Given the description of an element on the screen output the (x, y) to click on. 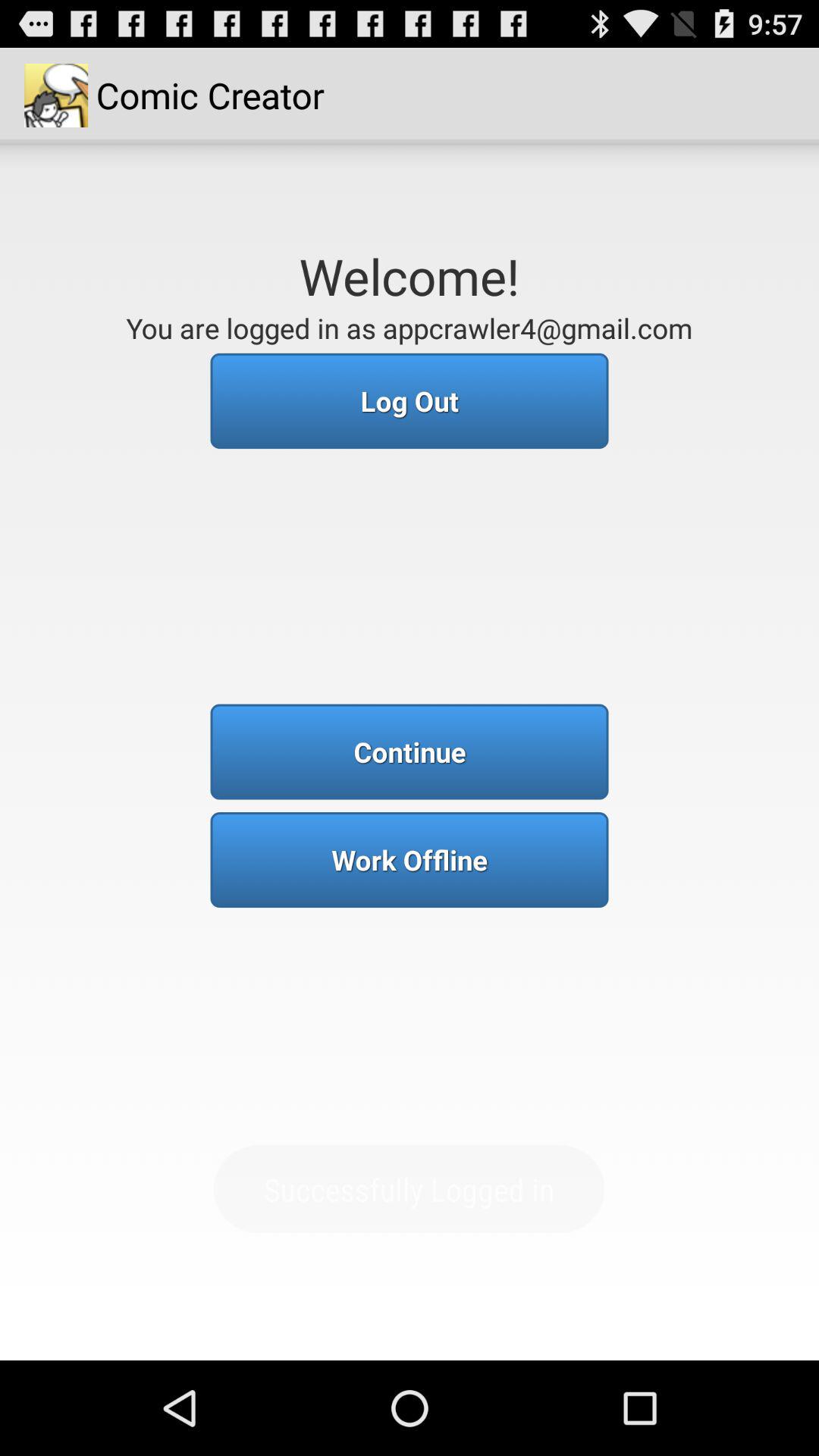
scroll until the log out (409, 400)
